Given the description of an element on the screen output the (x, y) to click on. 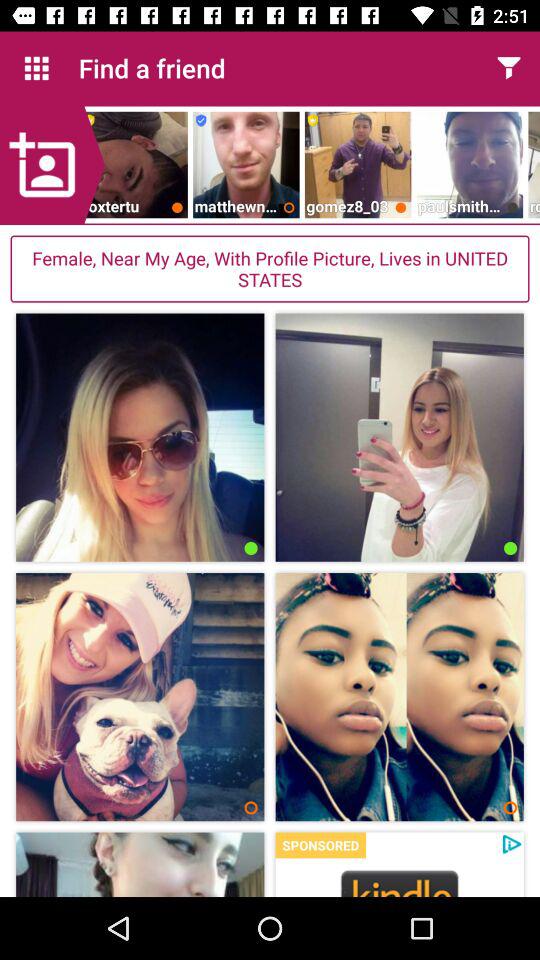
filter results (508, 67)
